Given the description of an element on the screen output the (x, y) to click on. 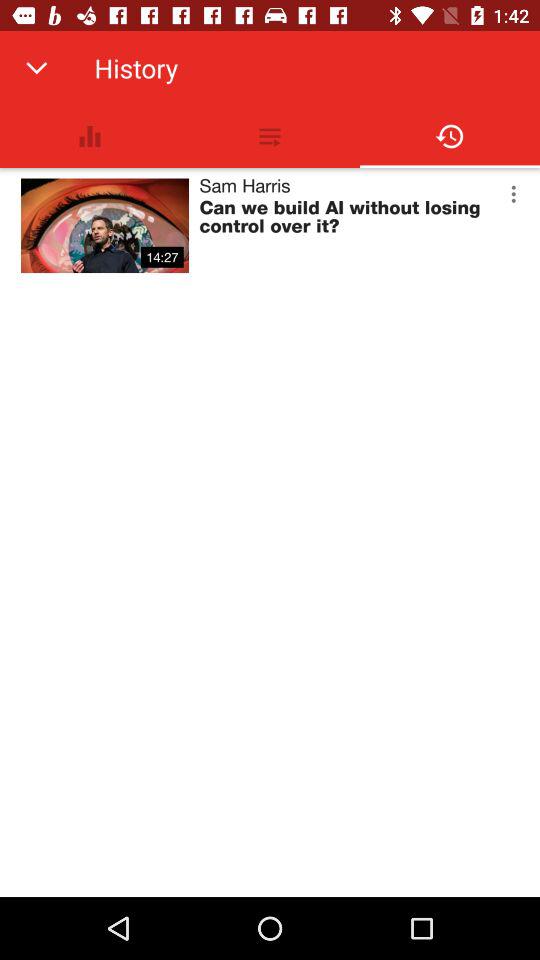
select item next to the sam harris (513, 194)
